Given the description of an element on the screen output the (x, y) to click on. 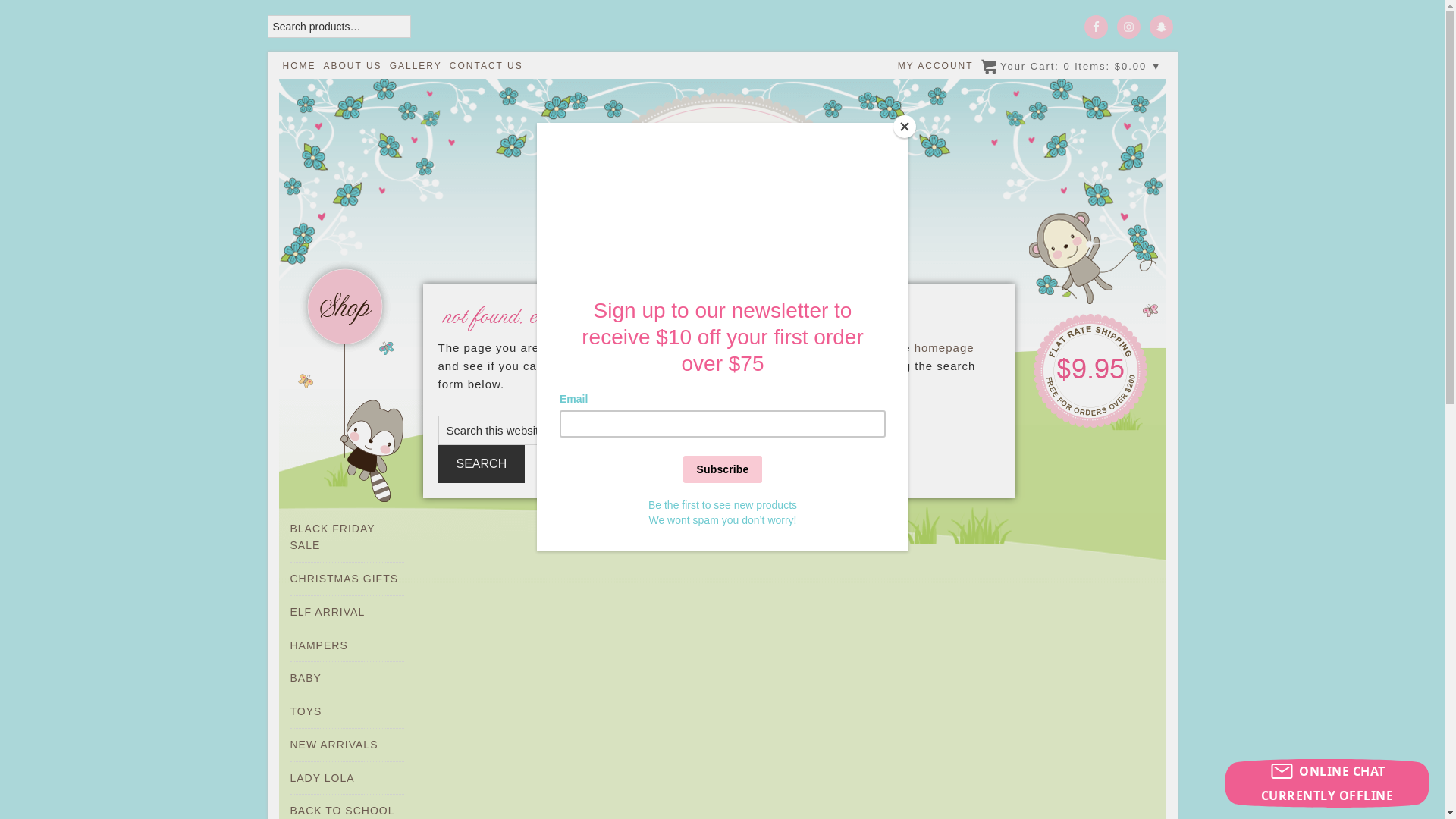
ABOUT US Element type: text (352, 65)
CONTACT US Element type: text (486, 65)
homepage Element type: text (944, 347)
Search Element type: text (61, 23)
BABY Element type: text (304, 677)
ONLINE CHAT CURRENTLY OFFLINE Element type: text (1326, 783)
CHRISTMAS GIFTS Element type: text (343, 578)
LADY LOLA Element type: text (321, 777)
Little Lola Boutique Element type: text (722, 169)
GALLERY Element type: text (415, 65)
MY ACCOUNT Element type: text (935, 65)
HAMPERS Element type: text (318, 644)
BACK TO SCHOOL Element type: text (341, 810)
Search Element type: text (481, 464)
TOYS Element type: text (305, 711)
NEW ARRIVALS Element type: text (333, 744)
HOME Element type: text (298, 65)
BLACK FRIDAY SALE Element type: text (331, 536)
ELF ARRIVAL Element type: text (326, 611)
